Given the description of an element on the screen output the (x, y) to click on. 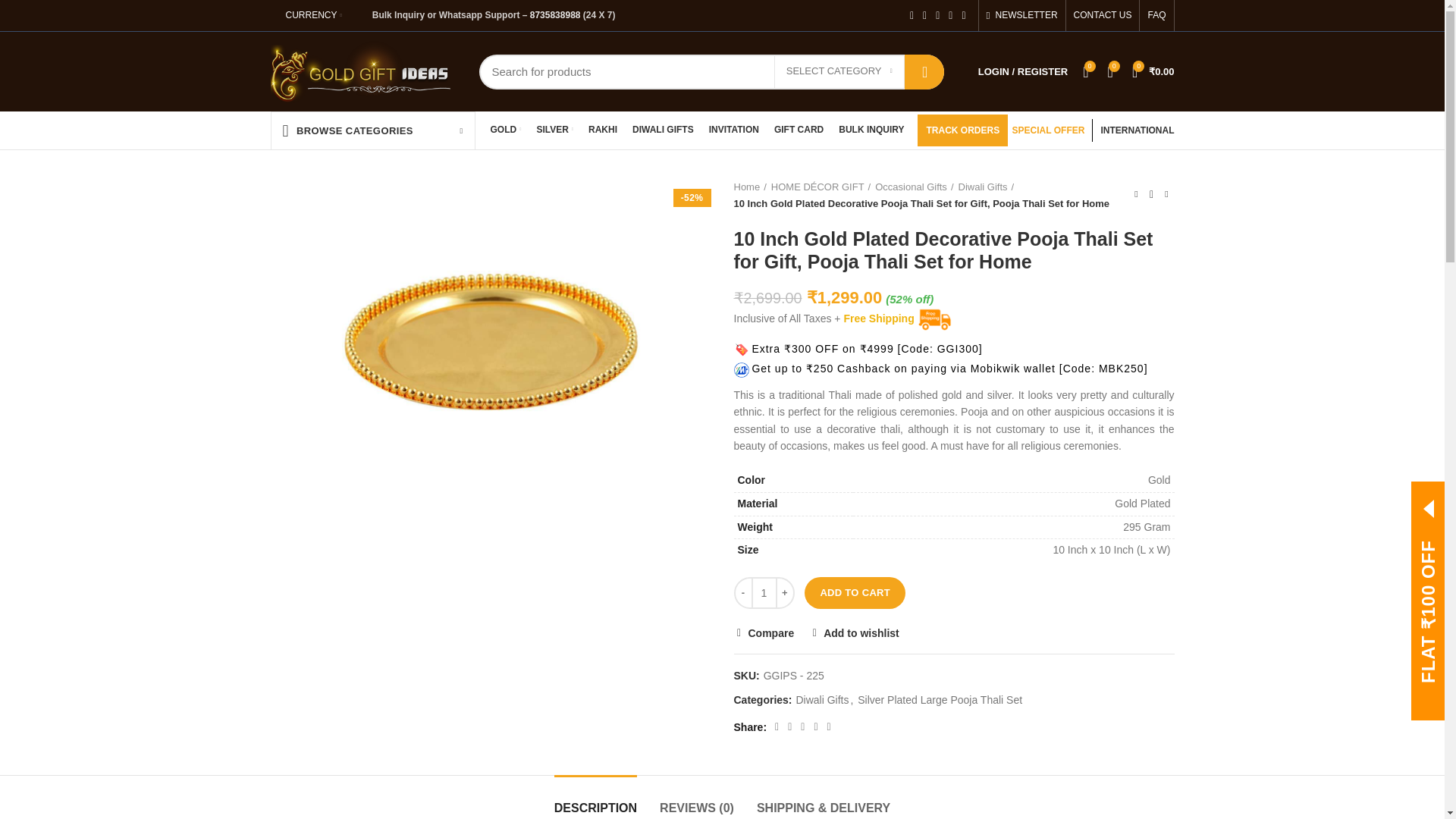
8735838988 (554, 14)
NEWSLETTER (1021, 15)
SELECT CATEGORY (839, 71)
Search for products (711, 71)
CONTACT US (1102, 15)
FAQ (1156, 15)
Shopping cart (1153, 71)
My account (1023, 71)
SELECT CATEGORY (839, 71)
CURRENCY (313, 15)
